Given the description of an element on the screen output the (x, y) to click on. 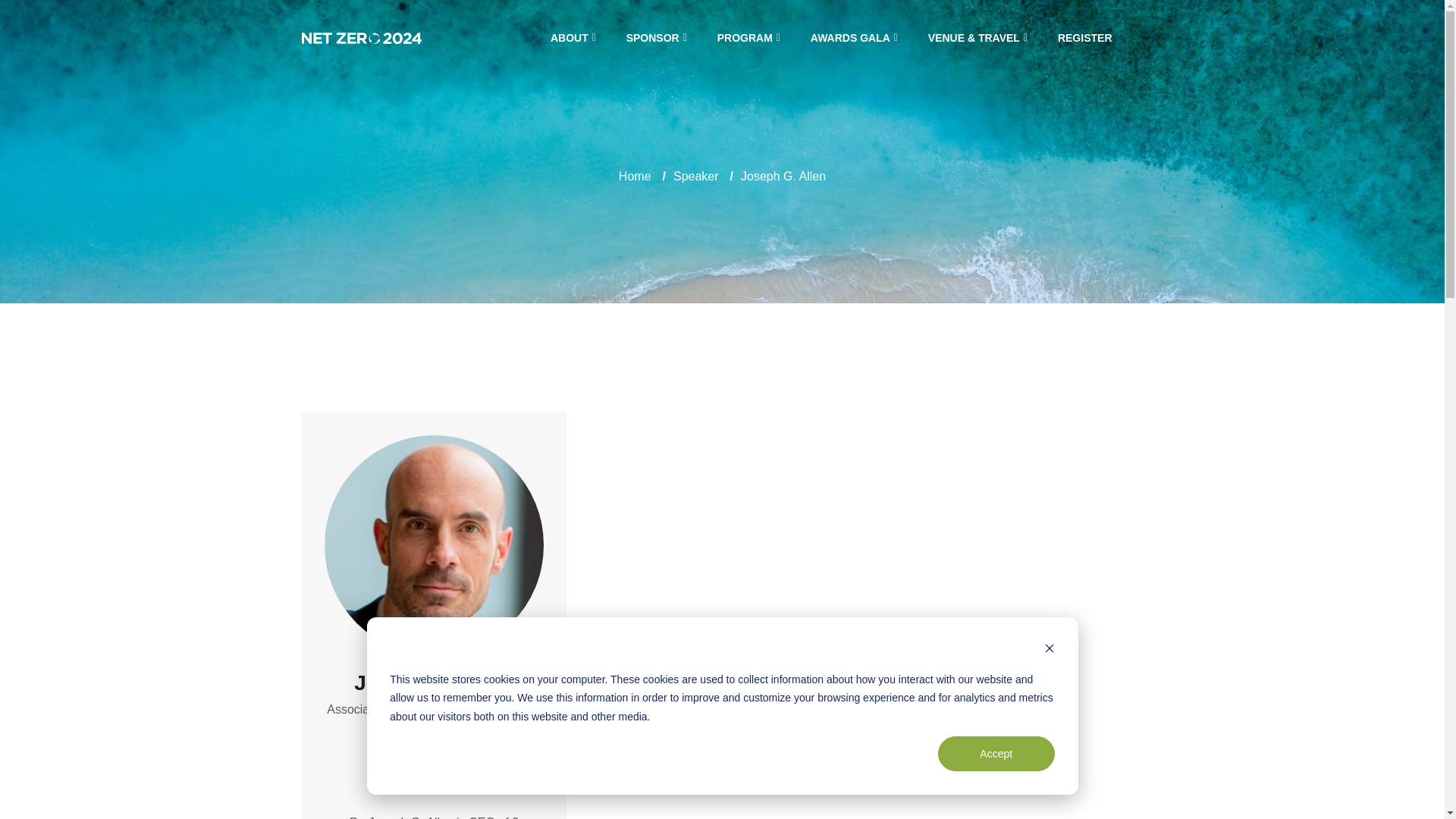
PROGRAM (744, 37)
REGISTER (1085, 37)
Speaker (695, 175)
AWARDS GALA (849, 37)
SPONSOR (652, 37)
Home (634, 175)
